Given the description of an element on the screen output the (x, y) to click on. 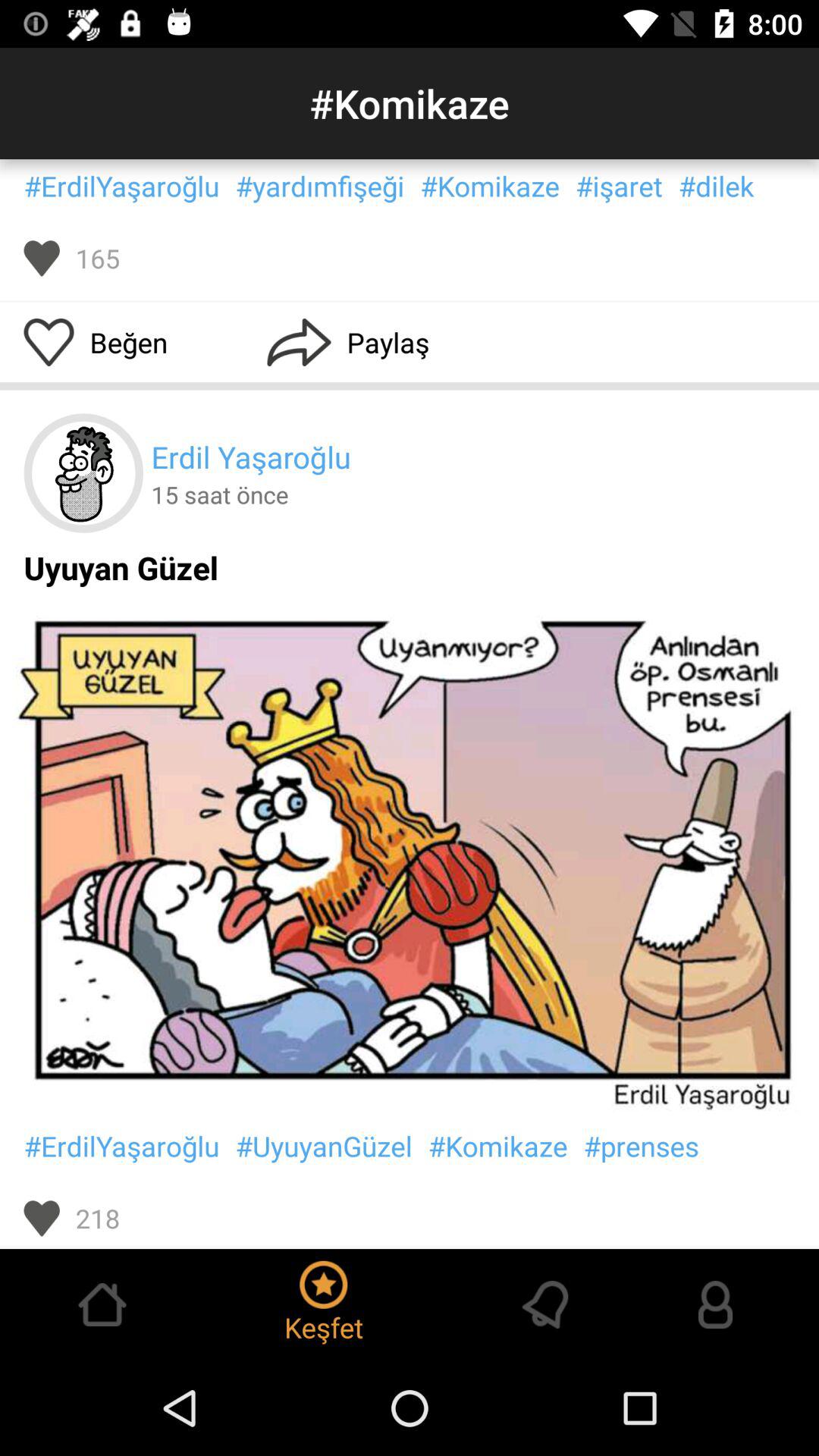
flip to the 165 (97, 257)
